Given the description of an element on the screen output the (x, y) to click on. 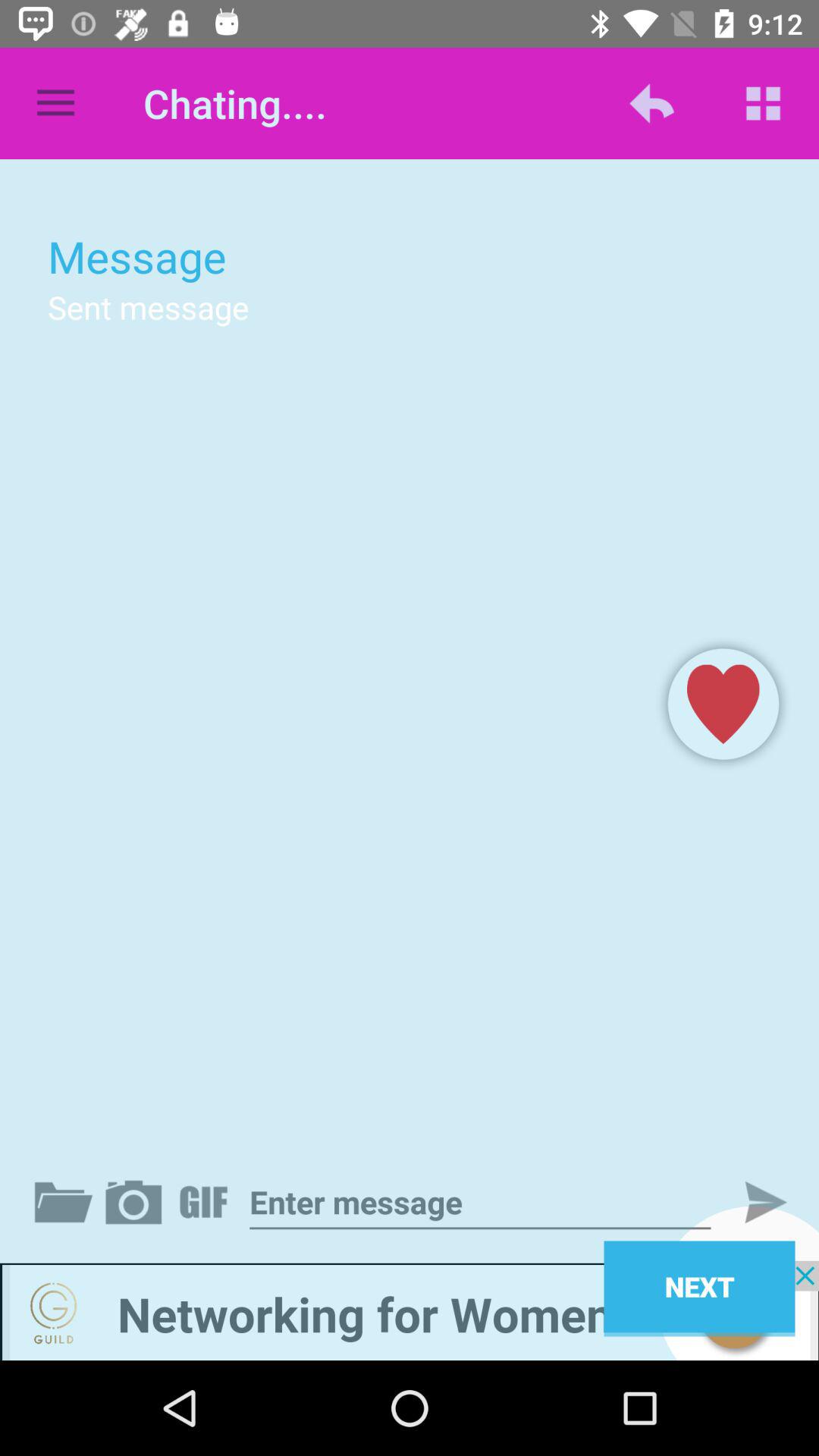
take a picture (136, 1202)
